Given the description of an element on the screen output the (x, y) to click on. 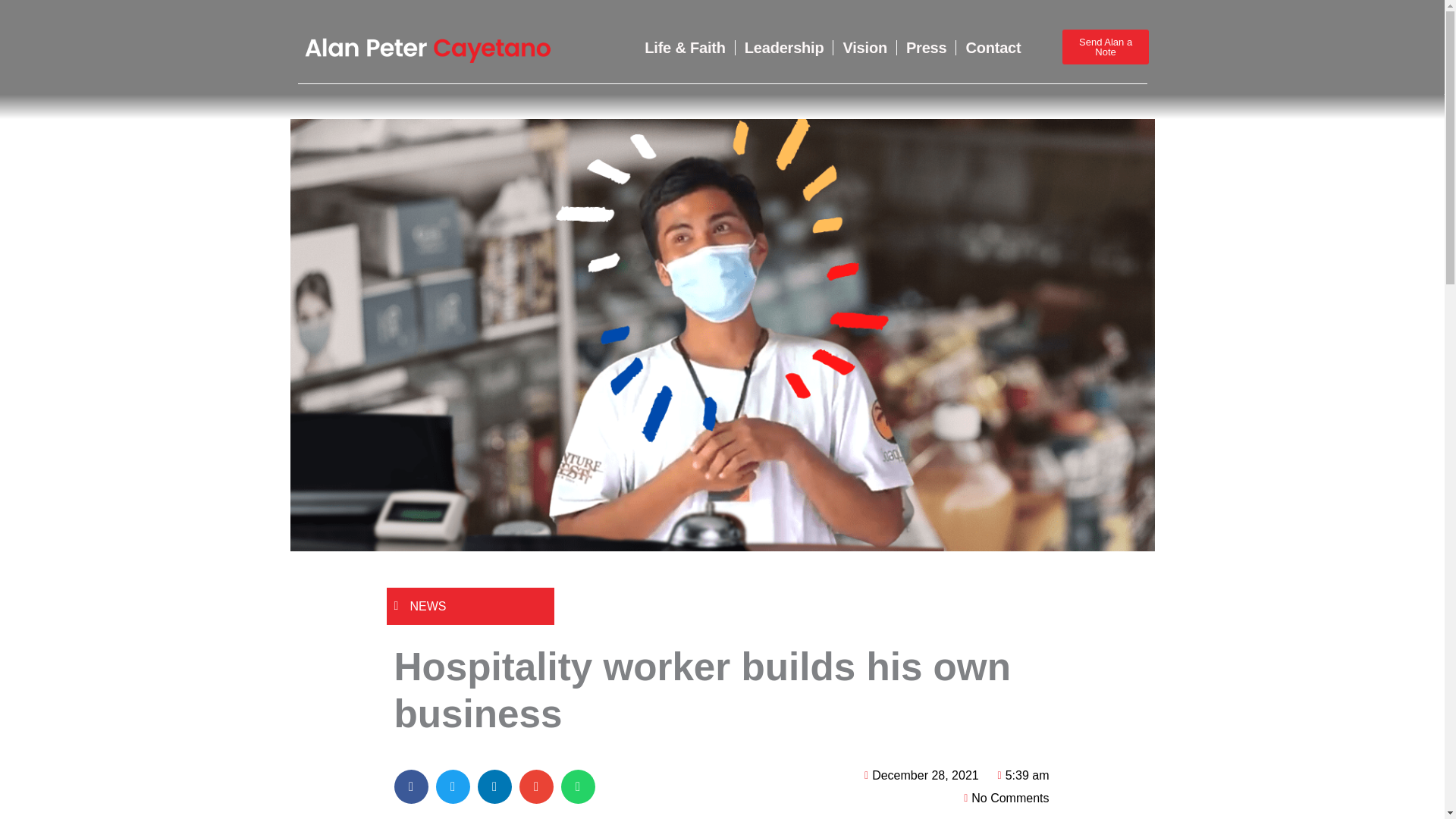
No Comments (1002, 798)
Leadership (784, 46)
Press (926, 46)
Vision (864, 46)
Contact (988, 46)
NEWS (427, 605)
Send Alan a Note (1105, 46)
December 28, 2021 (917, 775)
